Given the description of an element on the screen output the (x, y) to click on. 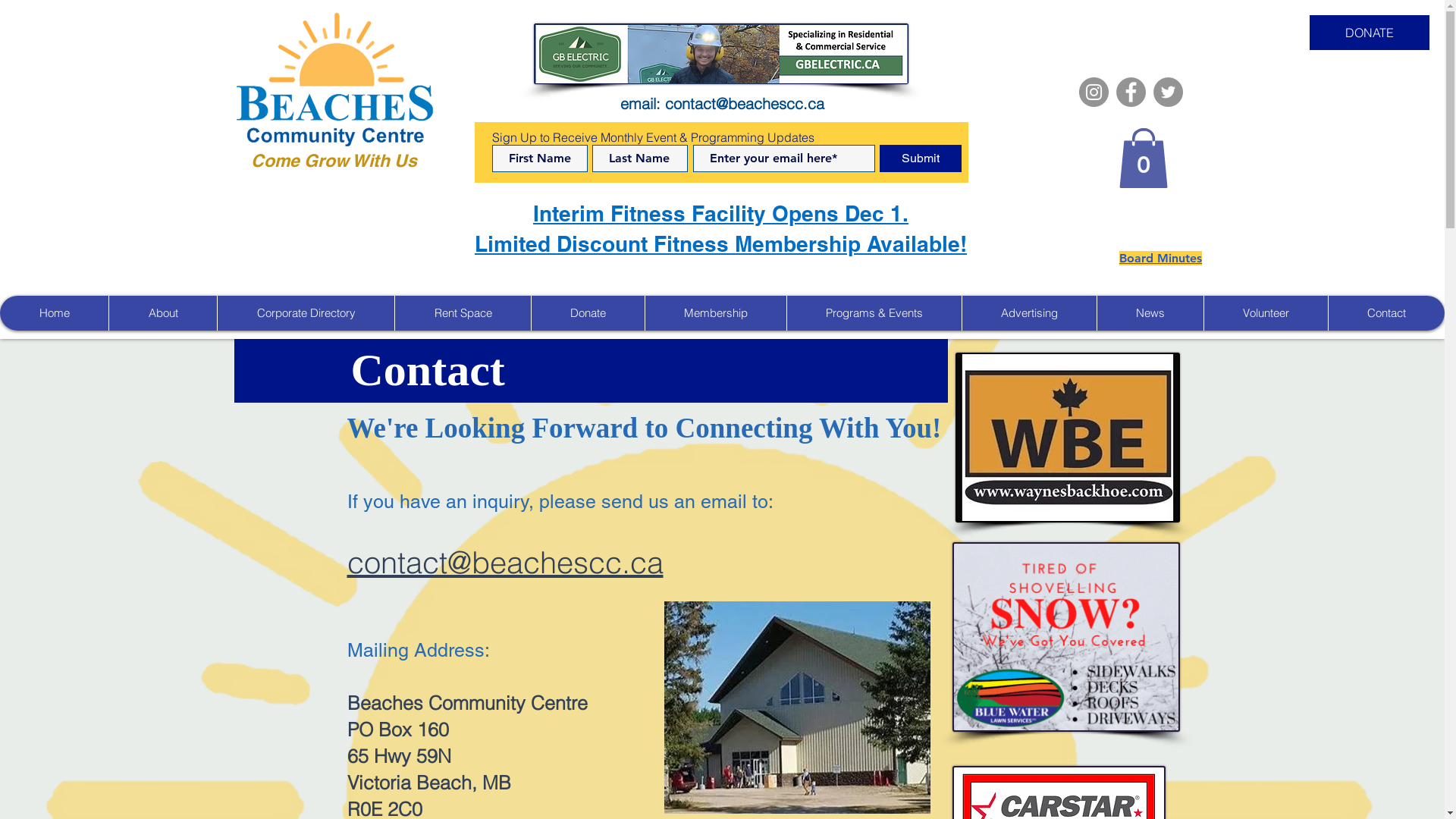
Contact Element type: text (1385, 312)
contact@beachescc.ca Element type: text (505, 561)
Rent Space Element type: text (462, 312)
Home Element type: text (54, 312)
Programs & Events Element type: text (873, 312)
Advertising Element type: text (1028, 312)
email: contact@beachescc.ca Element type: text (722, 103)
Submit Element type: text (920, 158)
0 Element type: text (1142, 158)
DONATE Element type: text (1369, 32)
News Element type: text (1149, 312)
Volunteer Element type: text (1265, 312)
Donate Element type: text (587, 312)
Membership Element type: text (715, 312)
Corporate Directory Element type: text (305, 312)
Board Minutes Element type: text (1160, 258)
About Element type: text (162, 312)
Big Box Ad Placement.jpg Element type: hover (1067, 437)
Face of building_edited.jpg Element type: hover (797, 707)
